Given the description of an element on the screen output the (x, y) to click on. 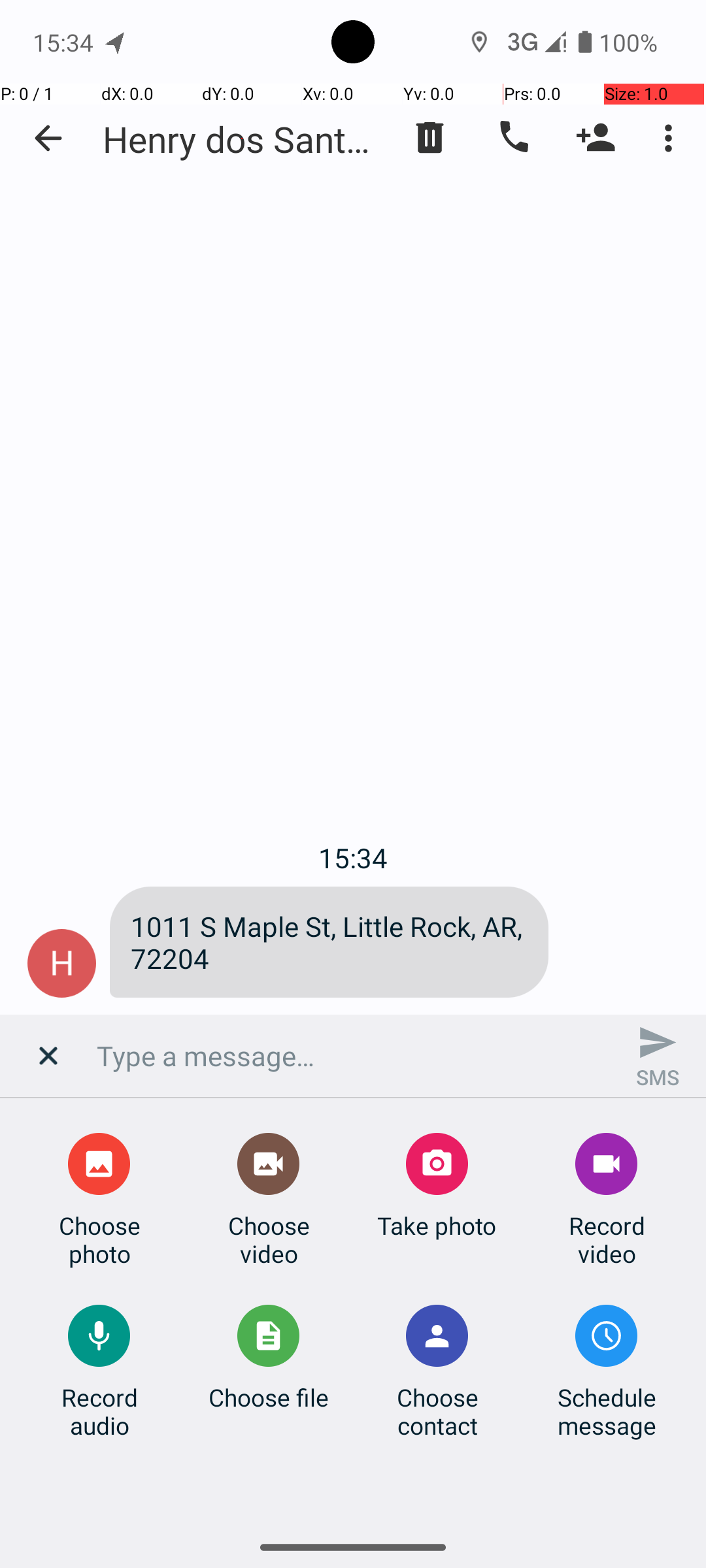
Henry dos Santos Element type: android.widget.TextView (241, 138)
1011 S Maple St, Little Rock, AR, 72204 Element type: android.widget.TextView (328, 941)
Choose photo Element type: android.widget.TextView (98, 1239)
Choose video Element type: android.widget.TextView (268, 1239)
Take photo Element type: android.widget.TextView (436, 1224)
Record video Element type: android.widget.TextView (606, 1239)
Record audio Element type: android.widget.TextView (98, 1410)
Choose file Element type: android.widget.TextView (268, 1396)
Choose contact Element type: android.widget.TextView (436, 1410)
Schedule message Element type: android.widget.TextView (606, 1410)
